Given the description of an element on the screen output the (x, y) to click on. 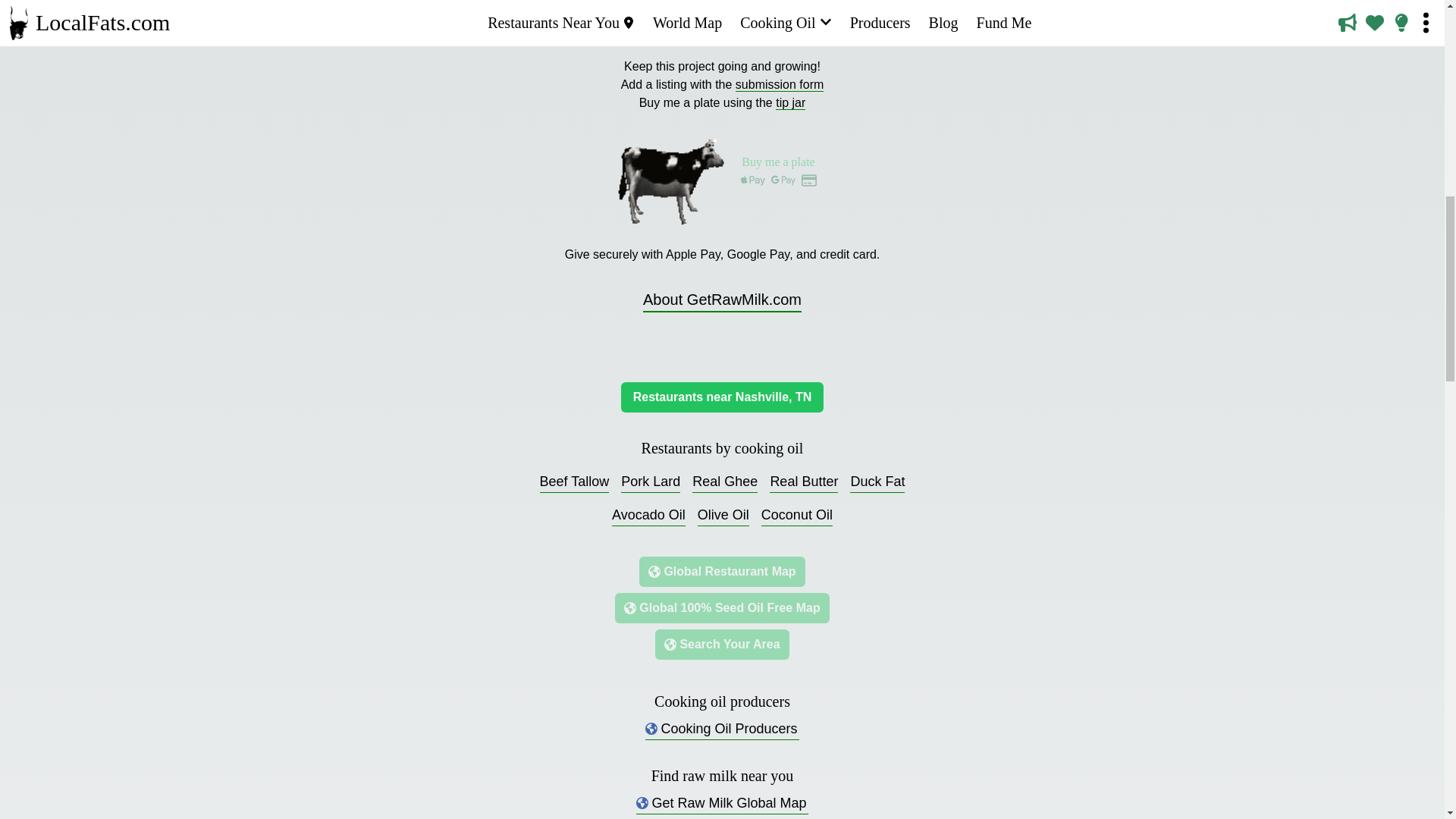
About GetRawMilk.com (722, 300)
Buy me a plate (721, 172)
submission form (779, 84)
Buy me a plate (778, 173)
tip jar (790, 102)
